Given the description of an element on the screen output the (x, y) to click on. 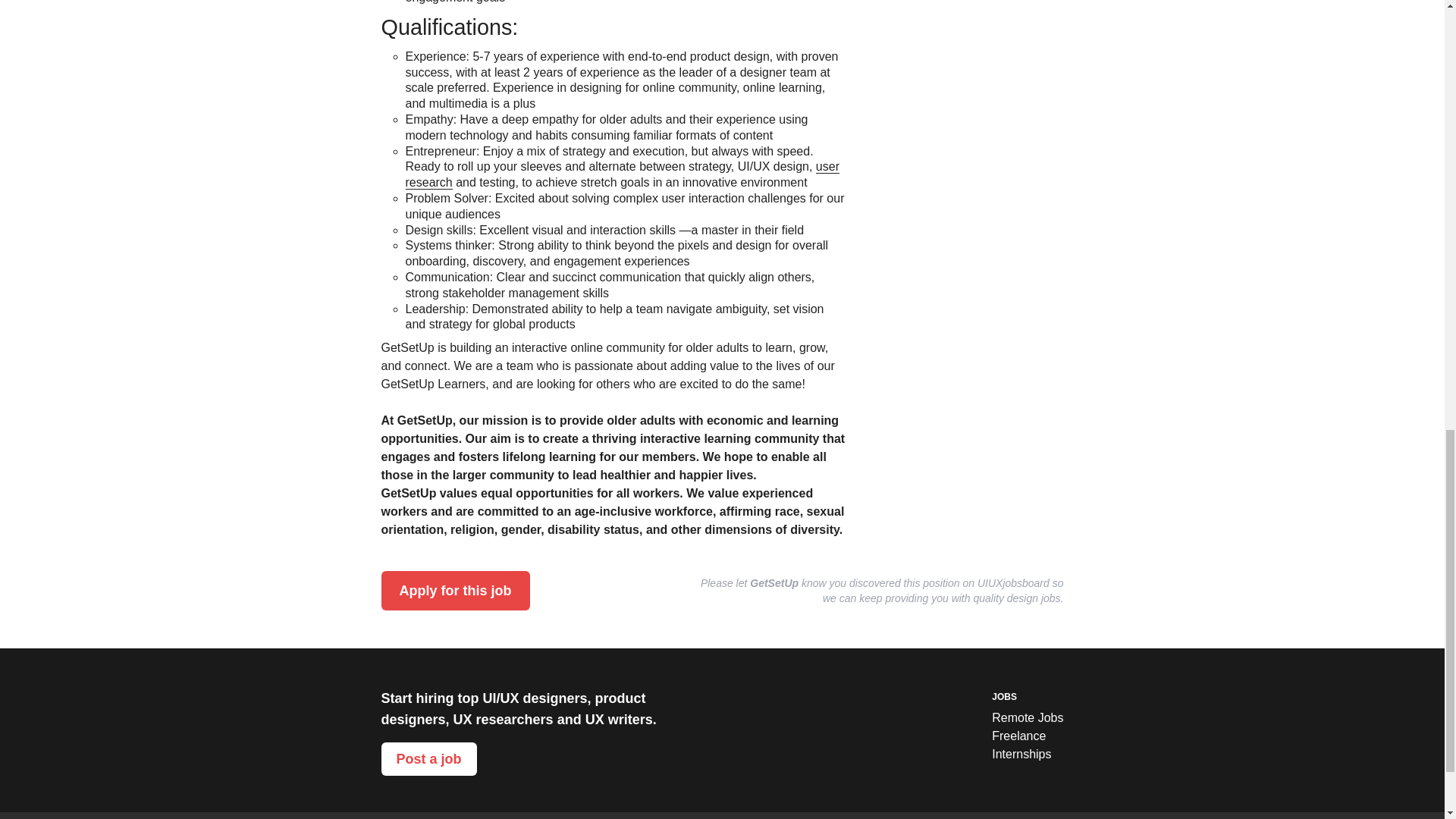
Freelance (1026, 736)
Internships (1026, 754)
user research (621, 174)
Apply for this job (454, 590)
Post a job (428, 758)
Remote Jobs (1026, 718)
